Given the description of an element on the screen output the (x, y) to click on. 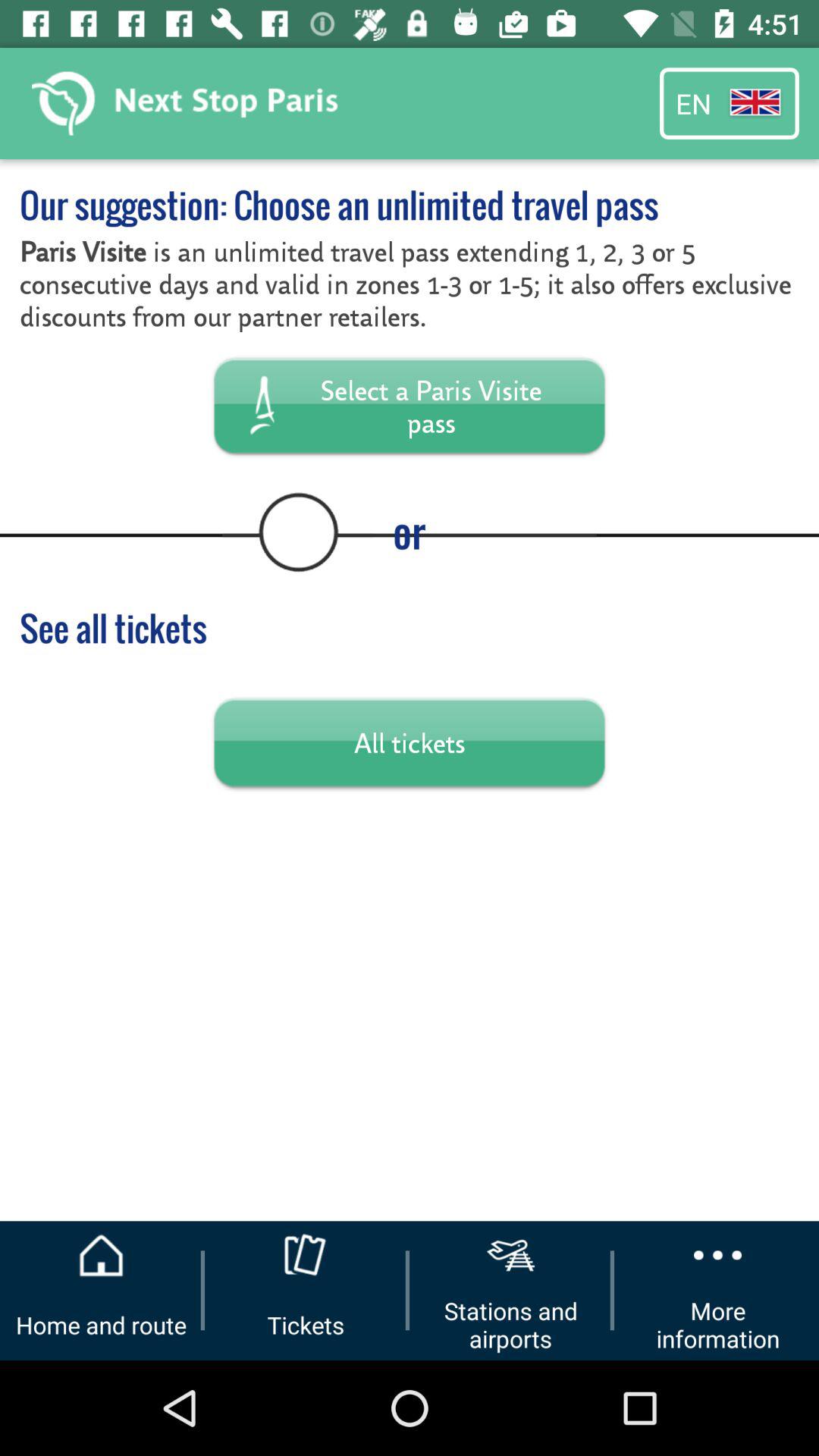
swipe to the select a paris icon (409, 405)
